Given the description of an element on the screen output the (x, y) to click on. 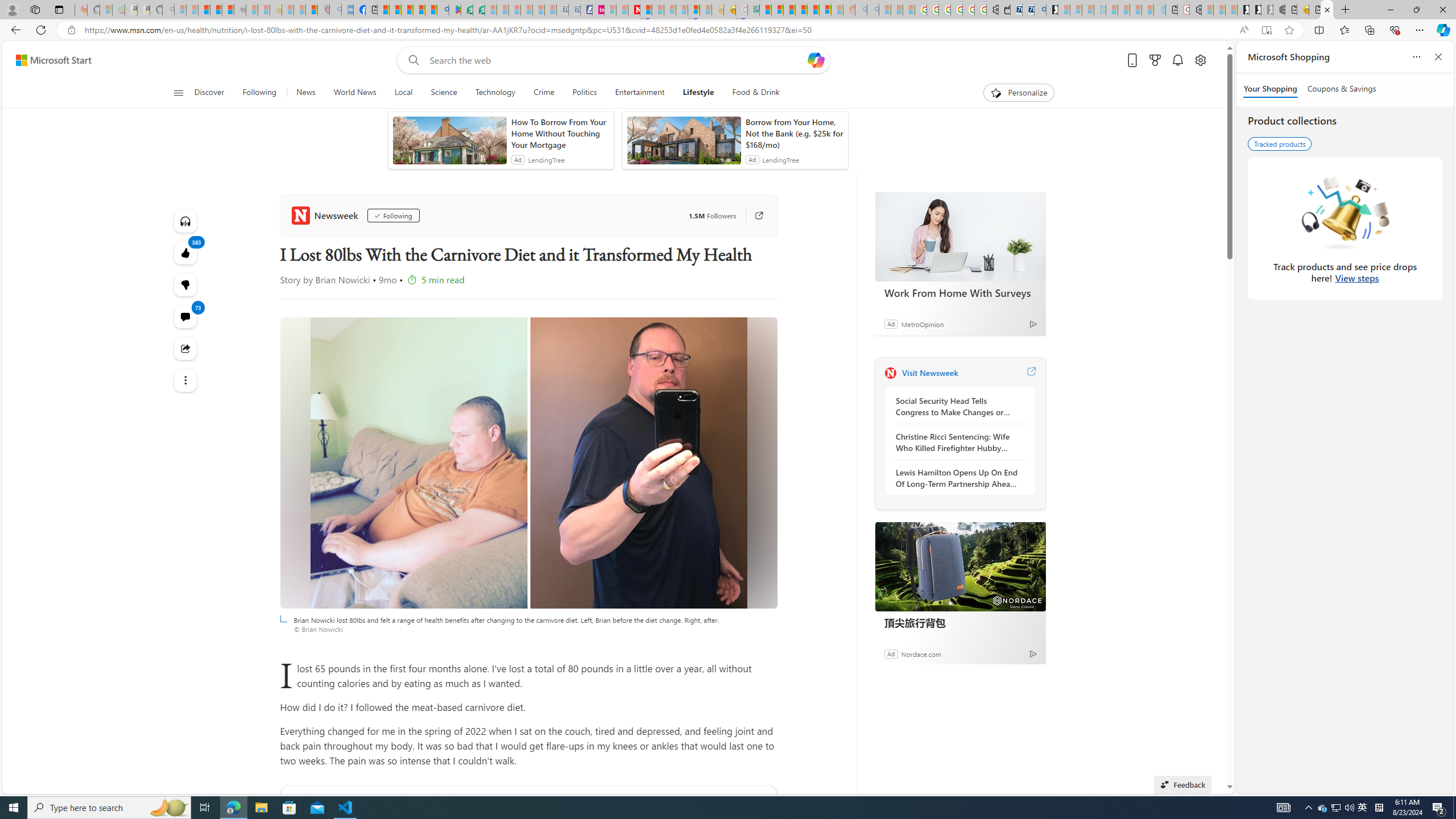
Collections (1369, 29)
Notifications (1177, 60)
Browser essentials (1394, 29)
Cheap Hotels - Save70.com - Sleeping (574, 9)
Back (13, 29)
Copilot (Ctrl+Shift+.) (1442, 29)
Entertainment (639, 92)
Read aloud this page (Ctrl+Shift+U) (1243, 29)
How To Borrow From Your Home Without Touching Your Mortgage (559, 133)
Web search (411, 60)
